Given the description of an element on the screen output the (x, y) to click on. 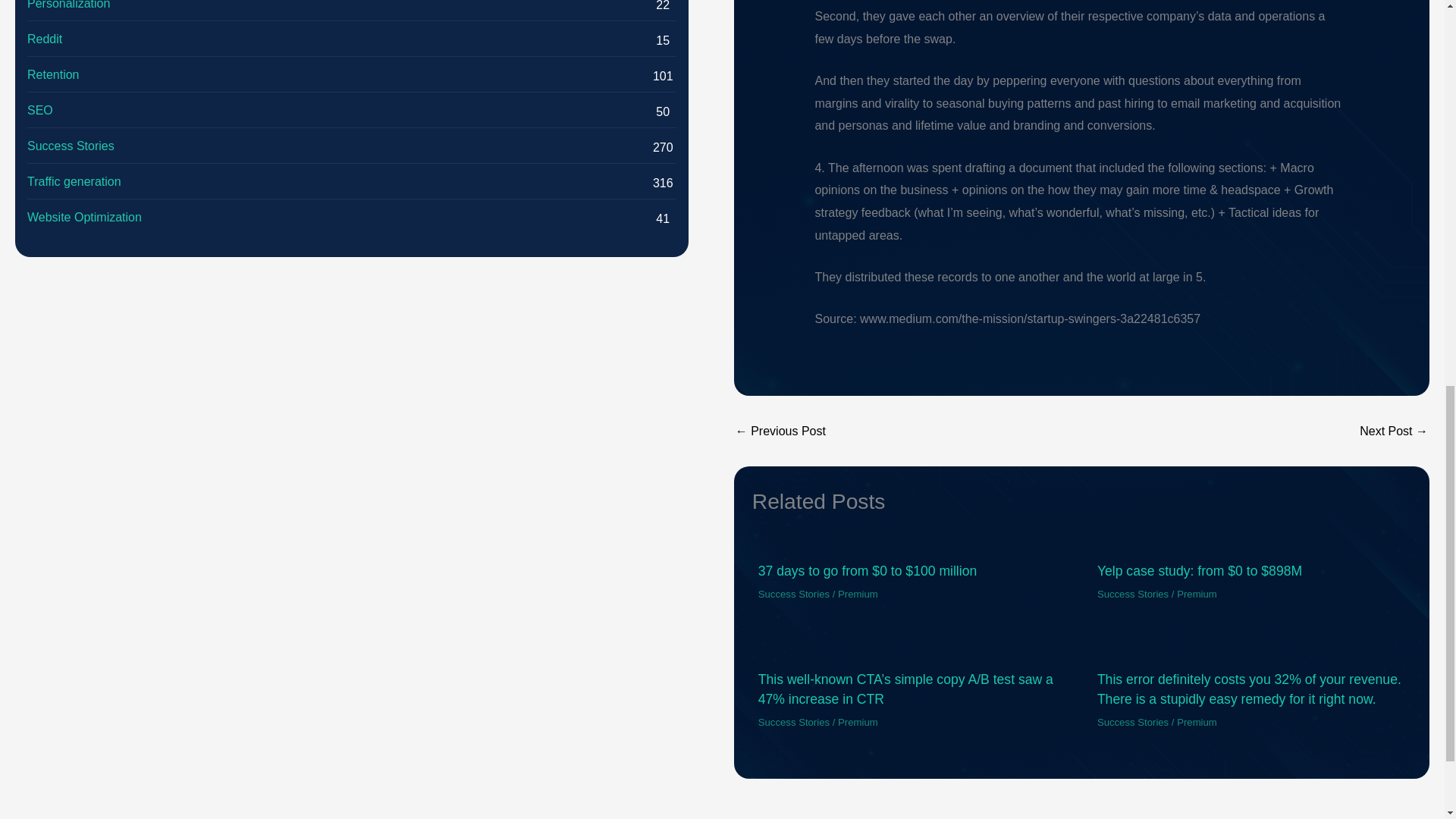
Personalization (68, 6)
Retention (53, 75)
Reddit (44, 39)
